Given the description of an element on the screen output the (x, y) to click on. 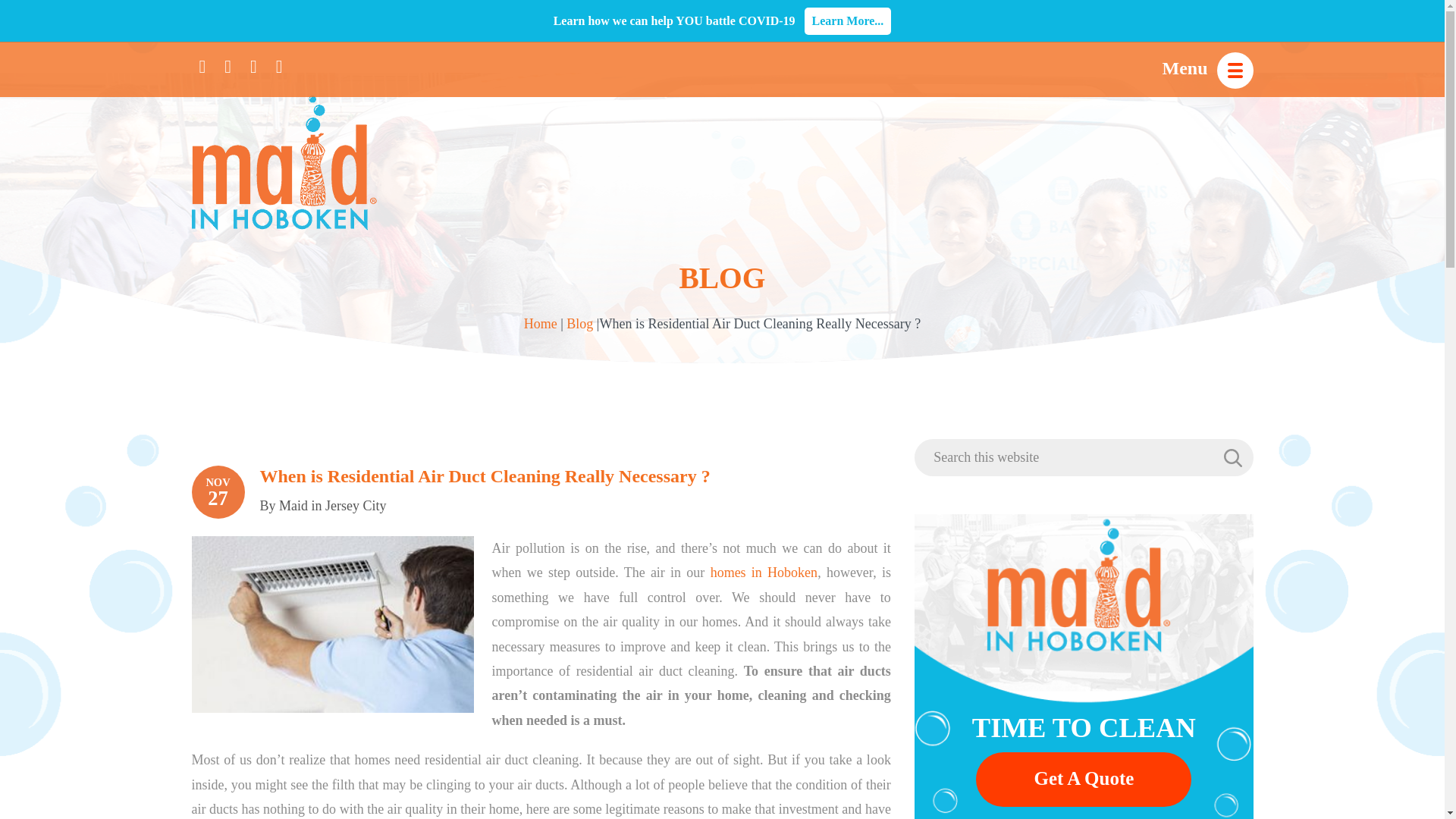
Learn More... (848, 21)
homes in Hoboken (764, 572)
Menu (1206, 64)
When is Residential Air Duct Cleaning Really Necessary ? (484, 476)
Get A Quote (1083, 779)
Blog (579, 323)
Home (540, 323)
maid in hoboken nj logo (282, 162)
